Given the description of an element on the screen output the (x, y) to click on. 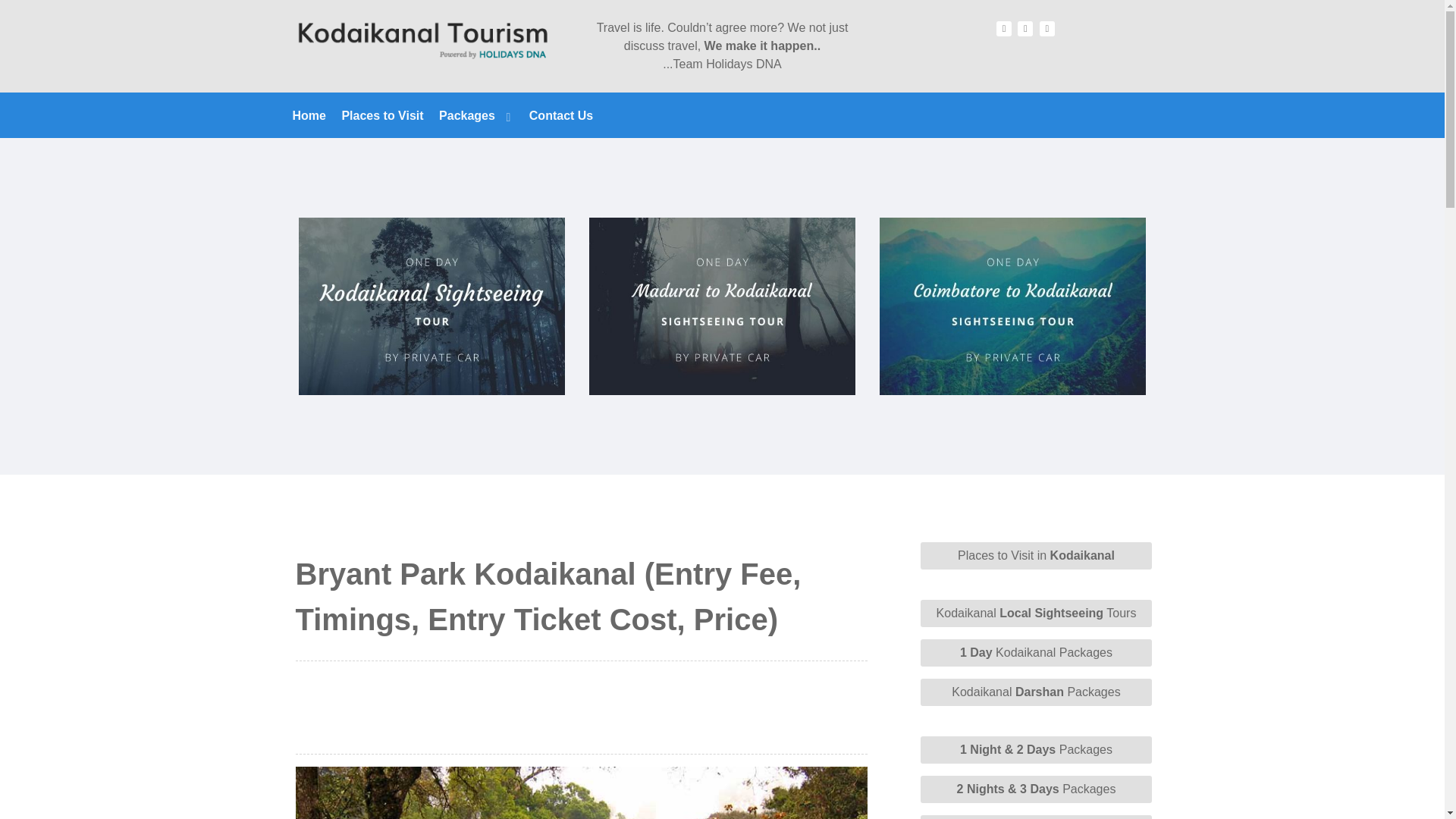
Home (309, 115)
Kodaikanal Tourism (420, 39)
Places to Visit (381, 115)
Contact Us (560, 115)
Packages (476, 115)
Advertisement (581, 707)
